Given the description of an element on the screen output the (x, y) to click on. 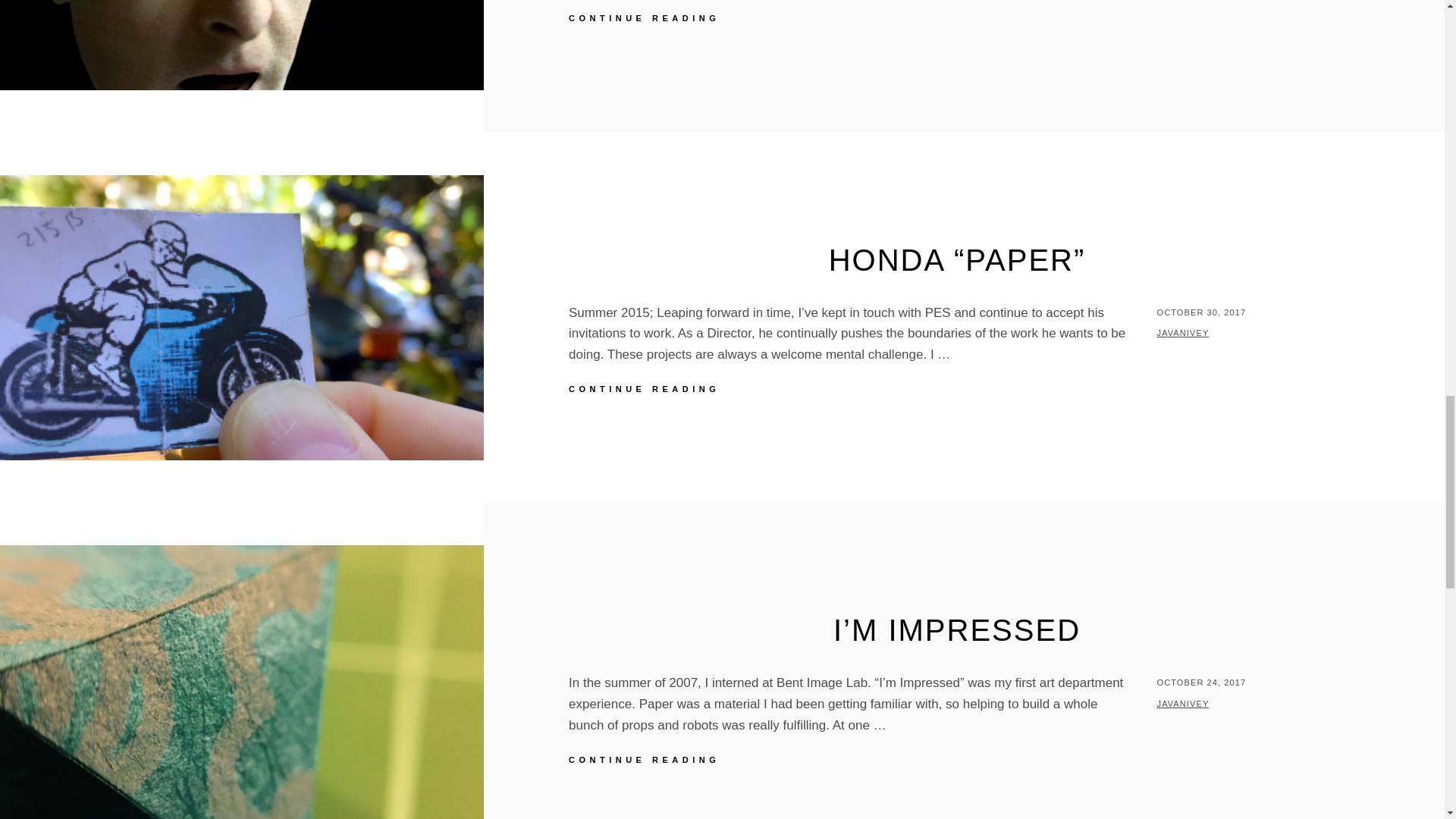
JAVANIVEY (1183, 703)
JAVANIVEY (852, 17)
